Given the description of an element on the screen output the (x, y) to click on. 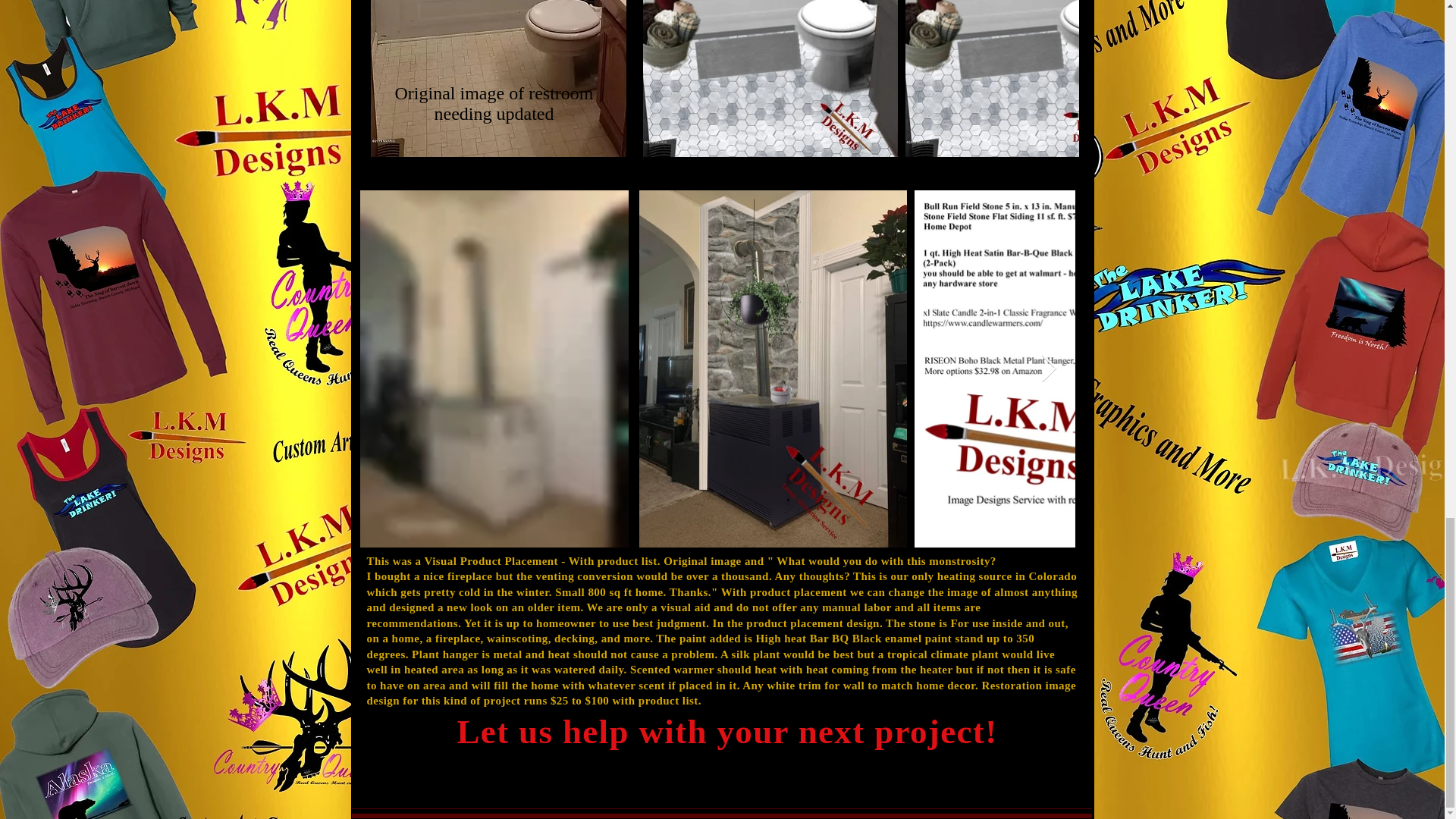
Website Created by L.K.M Designs  (745, 790)
